Given the description of an element on the screen output the (x, y) to click on. 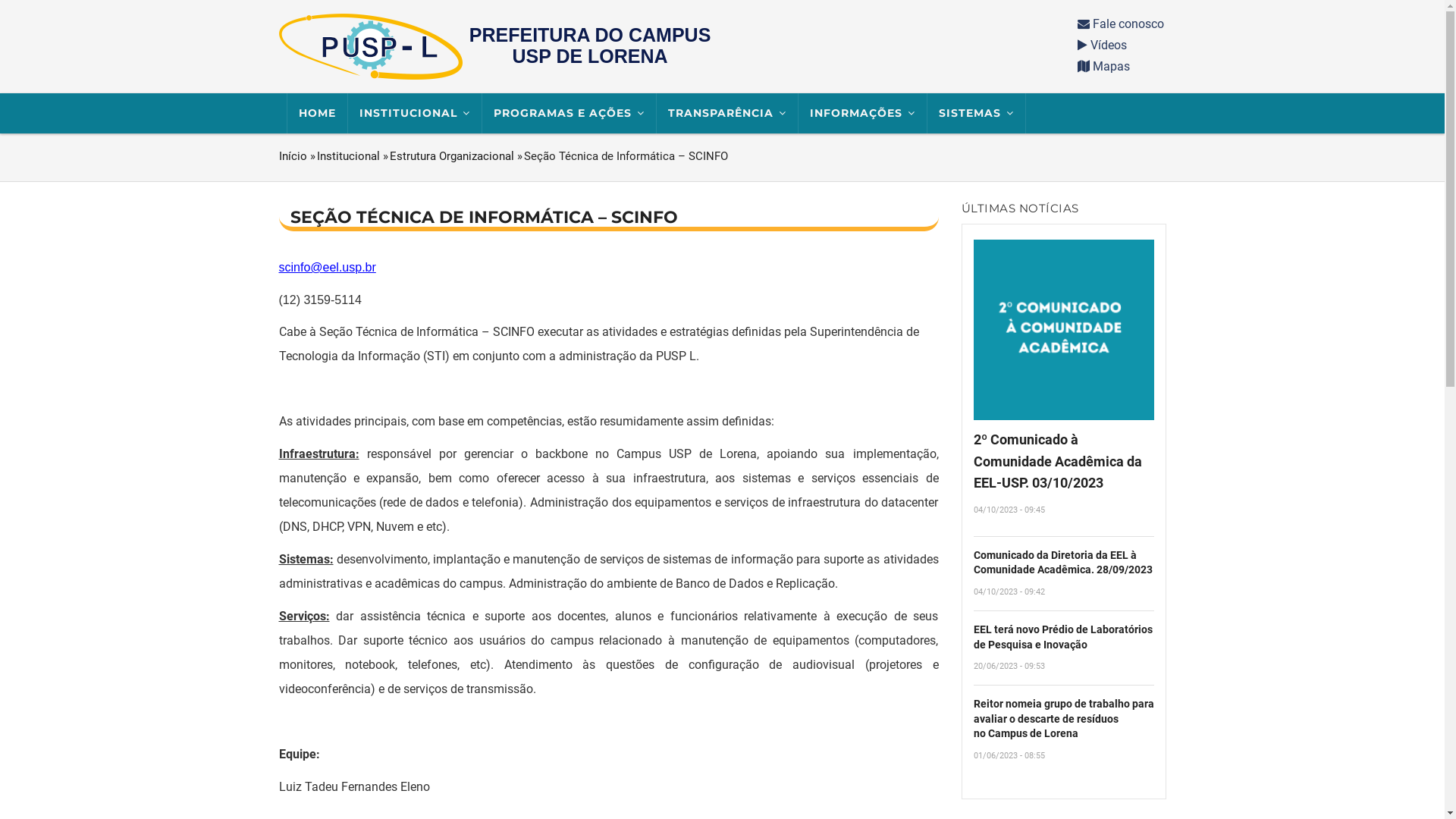
INSTITUCIONAL Element type: text (414, 113)
Fale conosco Element type: text (1119, 23)
Estrutura Organizacional Element type: text (451, 156)
Mapas Element type: text (1102, 66)
HOME Element type: text (317, 113)
Institucional Element type: text (347, 156)
scinfo@eel.usp.br Element type: text (327, 266)
PREFEITURA DO CAMPUS
USP DE LORENA Element type: text (678, 45)
SISTEMAS Element type: text (975, 113)
